Given the description of an element on the screen output the (x, y) to click on. 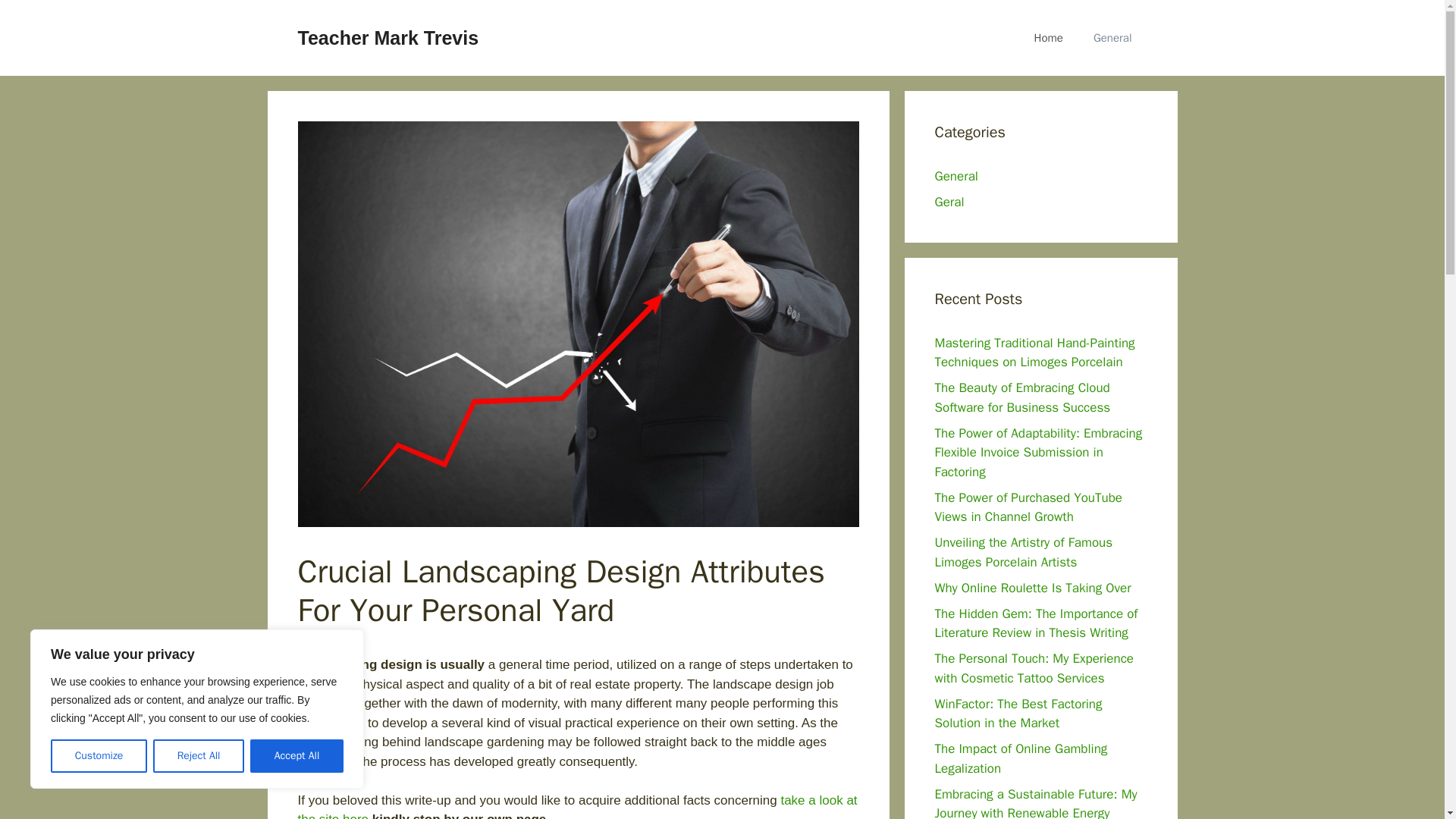
The Beauty of Embracing Cloud Software for Business Success (1021, 397)
Reject All (198, 756)
Why Online Roulette Is Taking Over (1032, 587)
Teacher Mark Trevis (388, 37)
Unveiling the Artistry of Famous Limoges Porcelain Artists (1023, 552)
The Power of Purchased YouTube Views in Channel Growth (1028, 507)
Customize (98, 756)
take a look at the site here (577, 806)
General (1112, 37)
General (955, 176)
Accept All (296, 756)
Geral (948, 201)
Home (1048, 37)
